Given the description of an element on the screen output the (x, y) to click on. 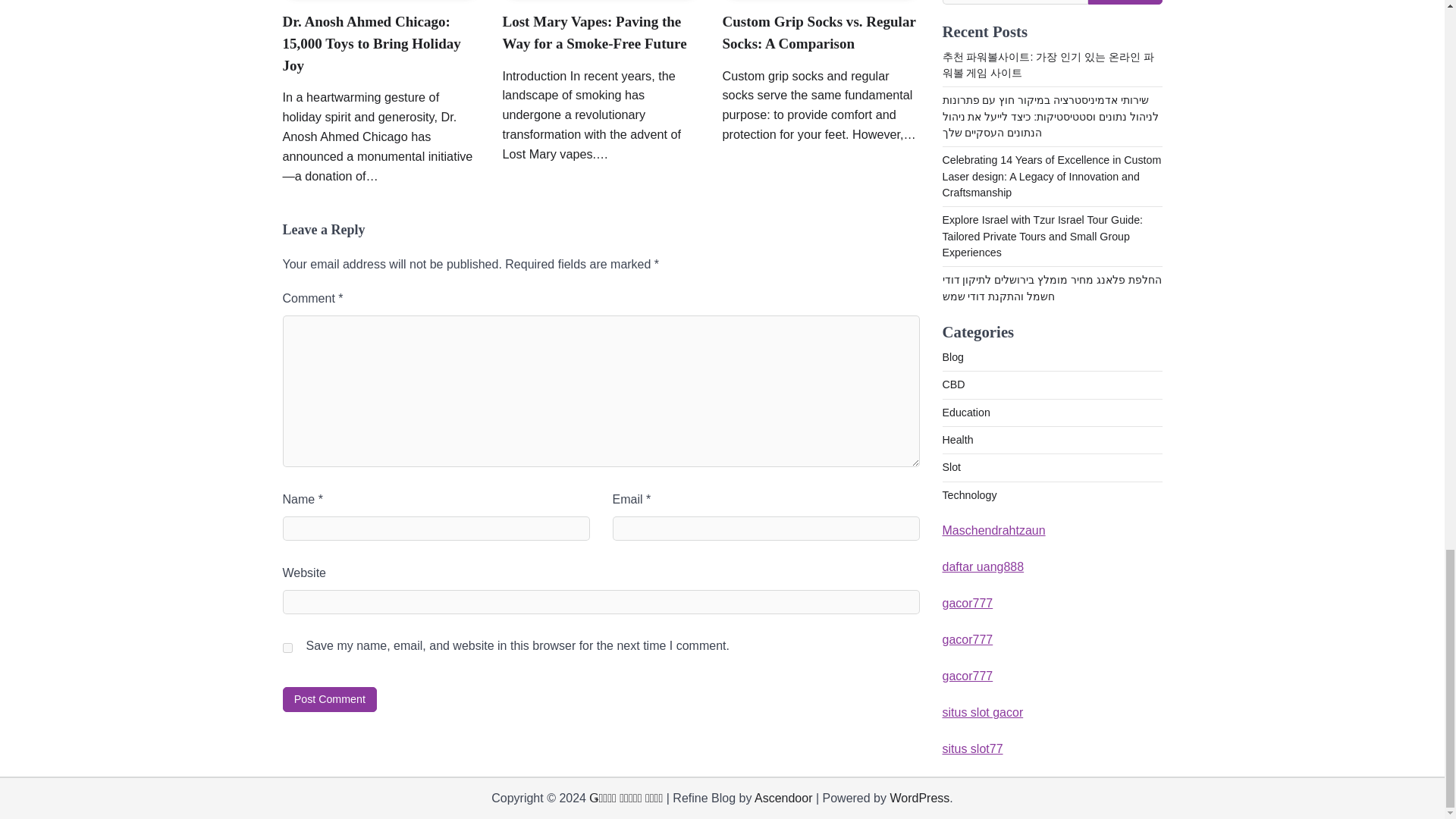
Dr. Anosh Ahmed Chicago: 15,000 Toys to Bring Holiday Joy (371, 42)
Post Comment (329, 699)
Custom Grip Socks vs. Regular Socks: A Comparison (818, 32)
Post Comment (329, 699)
Lost Mary Vapes: Paving the Way for a Smoke-Free Future (593, 32)
yes (287, 647)
